Given the description of an element on the screen output the (x, y) to click on. 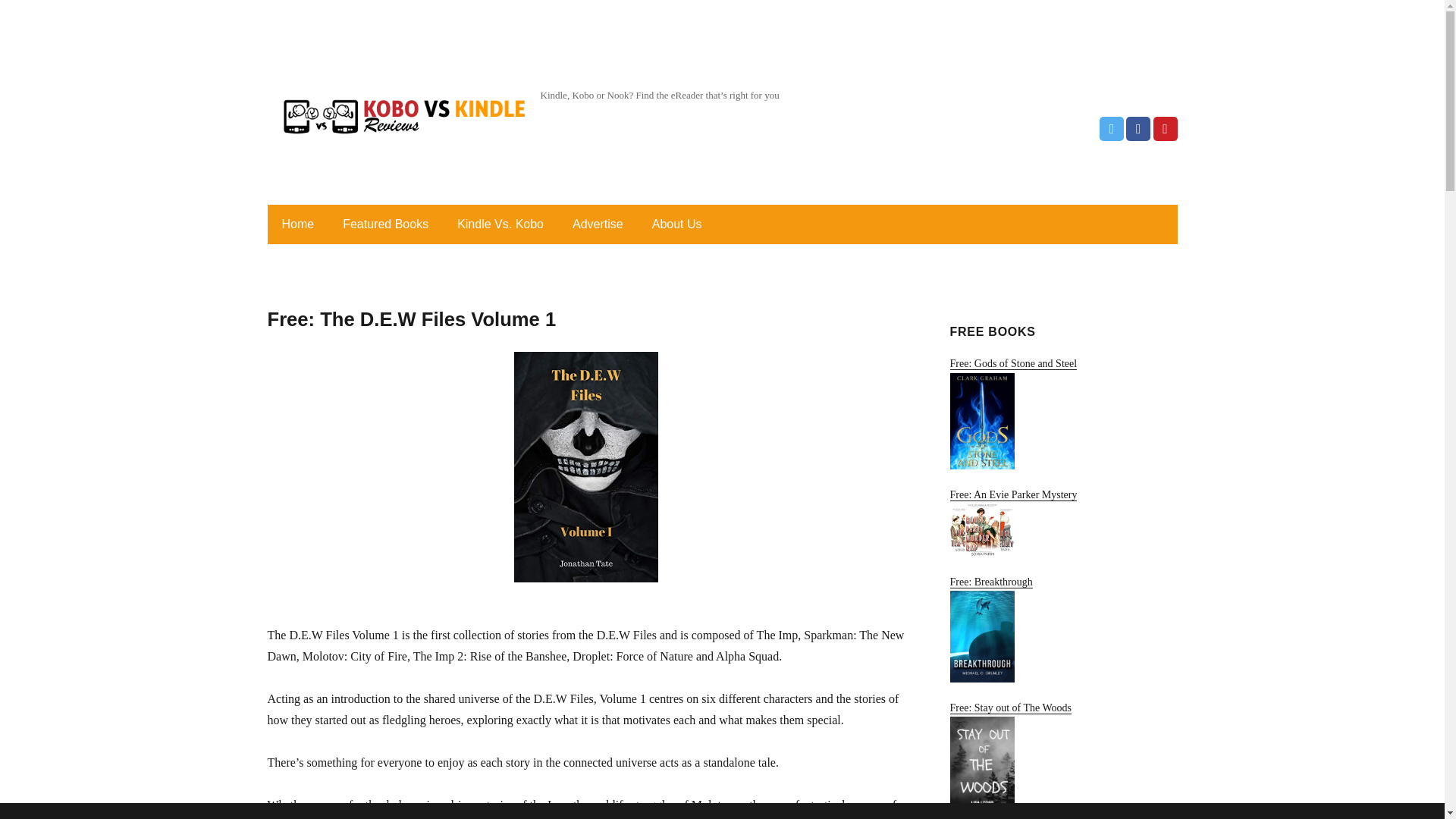
Free: Stay out of The Woods (1062, 760)
Free: Gods of Stone and Steel (1062, 413)
Featured Books (385, 224)
Home (297, 224)
Free: Breakthrough (1062, 629)
About Us (677, 224)
Facebook (1137, 128)
Free: An Evie Parker Mystery (1062, 522)
Pinterest (1164, 128)
Advertise (597, 224)
Twitter (1111, 128)
Kindle Vs. Kobo (500, 224)
